Given the description of an element on the screen output the (x, y) to click on. 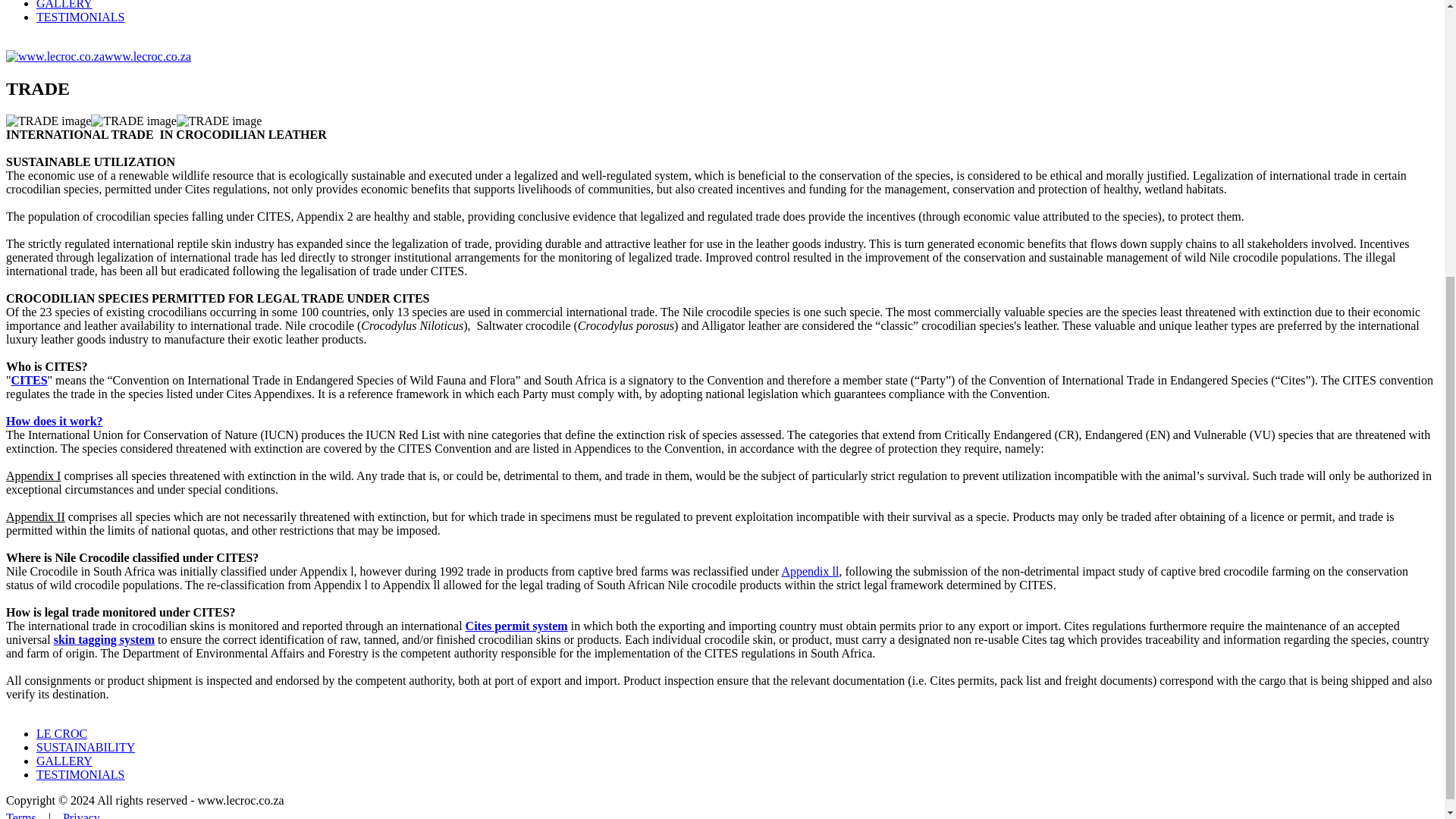
TESTIMONIALS (79, 16)
www.lecroc.co.za (97, 56)
GALLERY (64, 4)
